Given the description of an element on the screen output the (x, y) to click on. 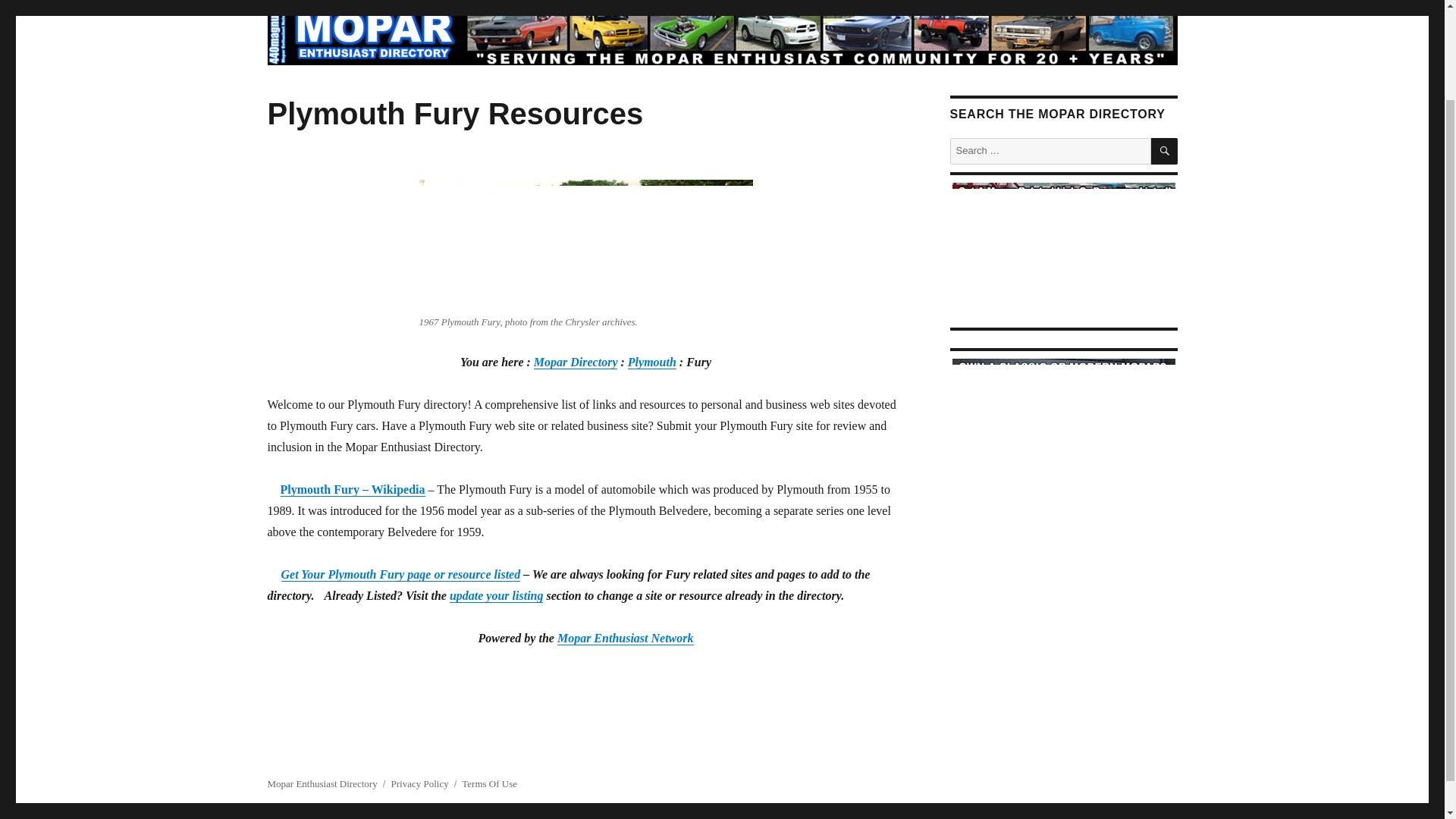
Get Your Plymouth Fury page or resource listed (400, 574)
Terms Of Use (488, 783)
Mopar Enthusiast Directory (321, 783)
update your listing (496, 594)
Privacy Policy (419, 783)
Plymouth (652, 361)
Mopar Enthusiast Network (625, 637)
SEARCH (1164, 151)
Mopar Directory (575, 361)
